Given the description of an element on the screen output the (x, y) to click on. 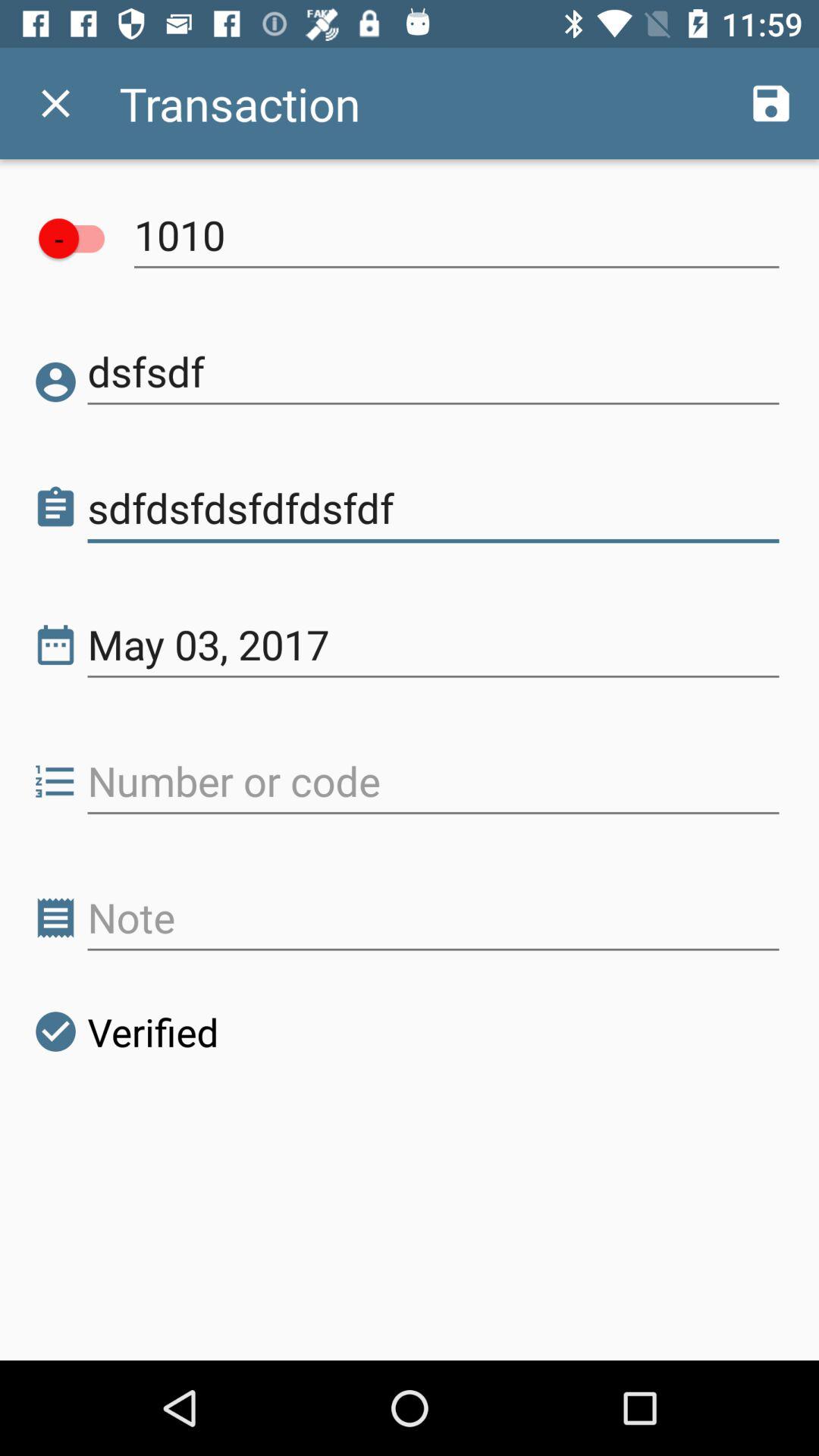
launch the item at the top right corner (771, 103)
